Given the description of an element on the screen output the (x, y) to click on. 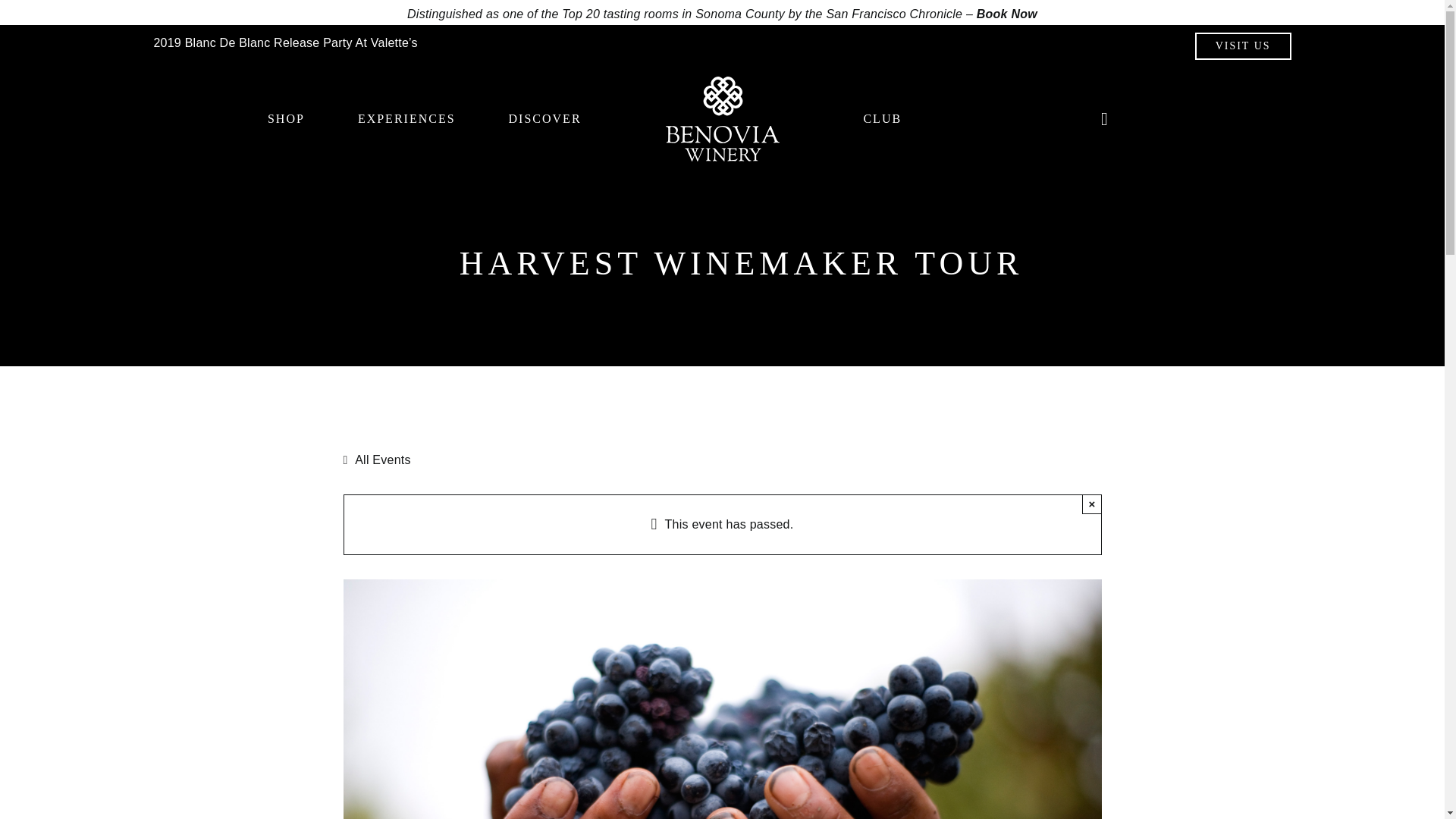
CLUB (882, 118)
EXPERIENCES (406, 119)
Book Now (1006, 13)
DISCOVER (544, 119)
VISIT US (1243, 46)
All Events (379, 459)
